Given the description of an element on the screen output the (x, y) to click on. 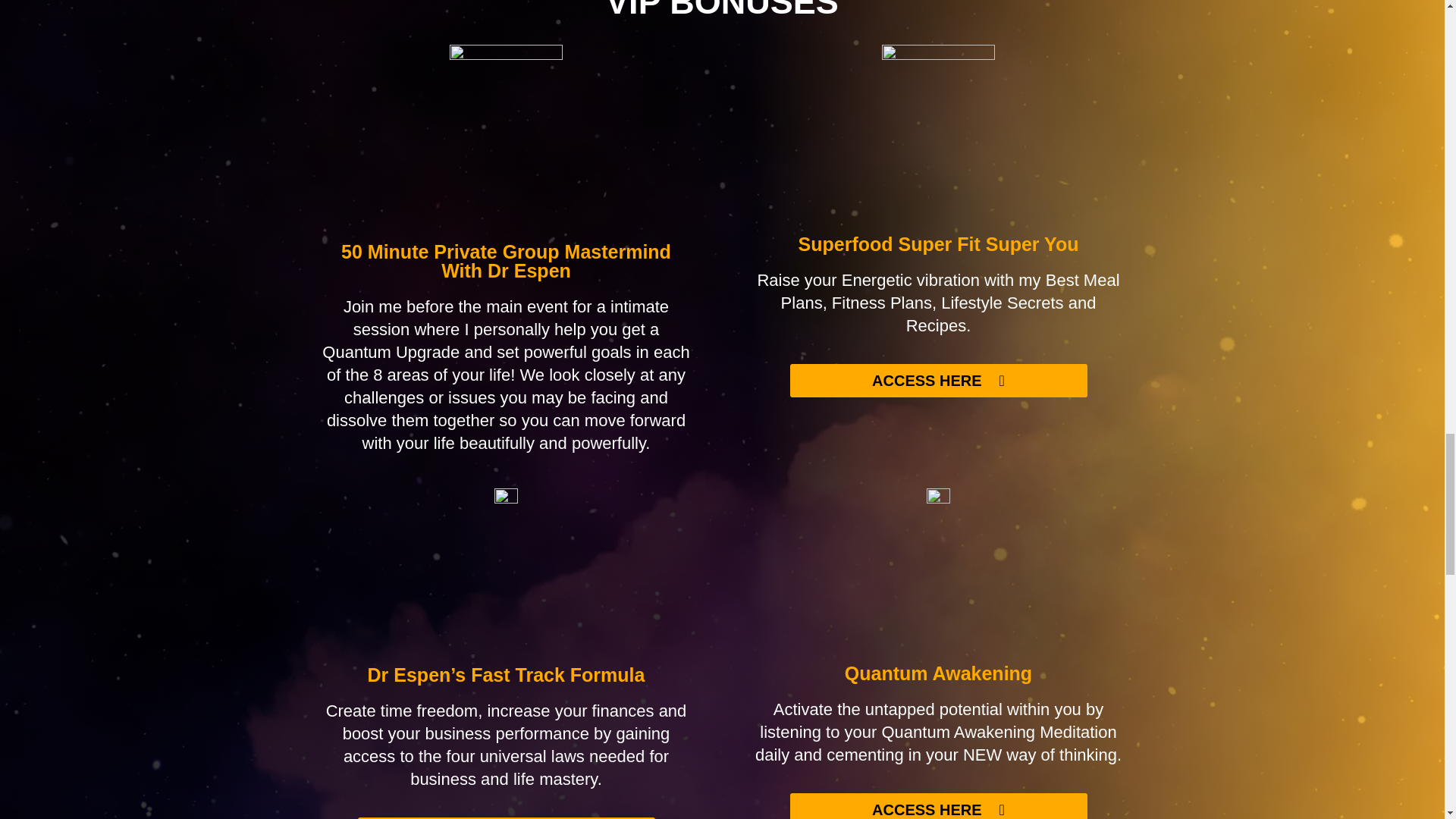
ACCESS HERE (938, 380)
ACCESS HERE (938, 806)
